Given the description of an element on the screen output the (x, y) to click on. 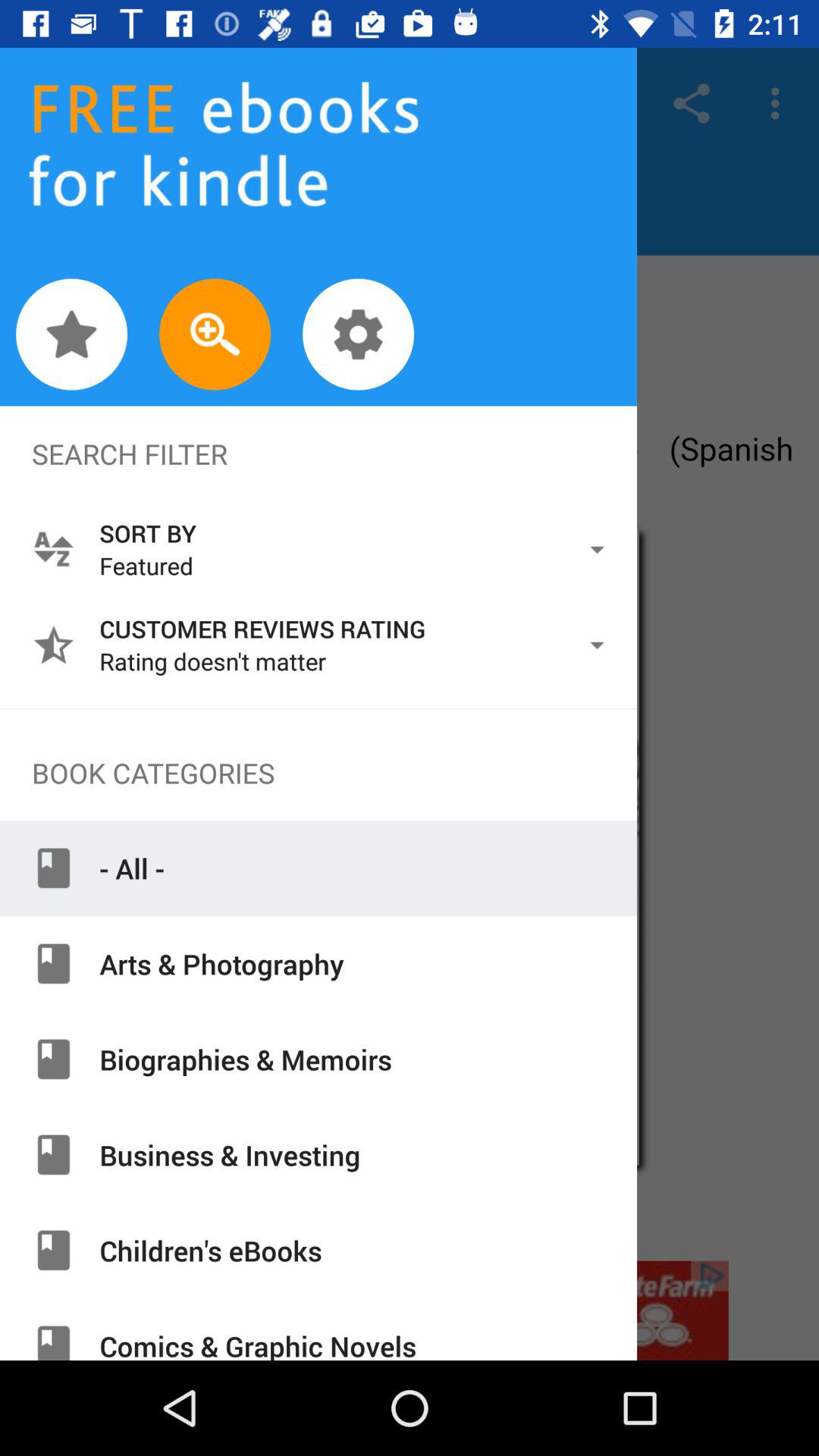
go to search (214, 334)
